Given the description of an element on the screen output the (x, y) to click on. 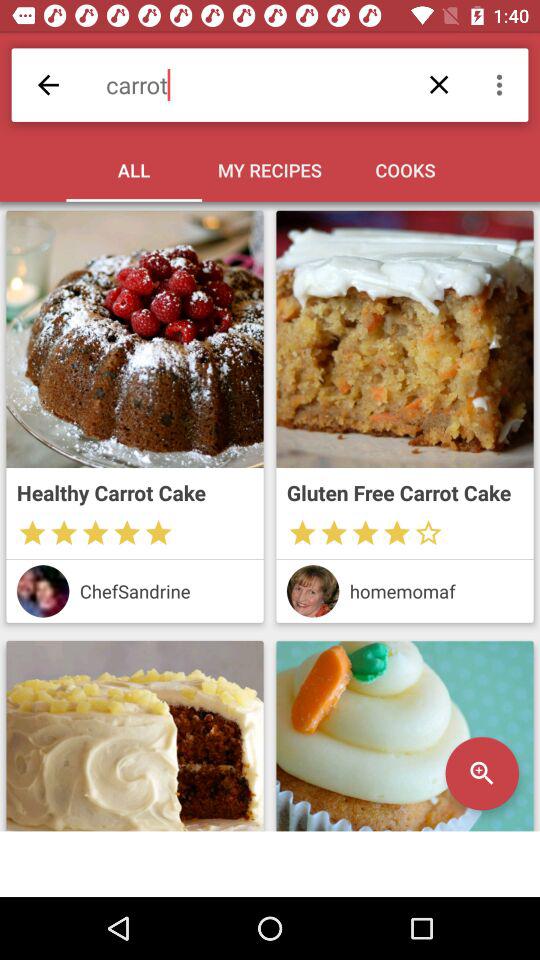
profile avatar (312, 591)
